Given the description of an element on the screen output the (x, y) to click on. 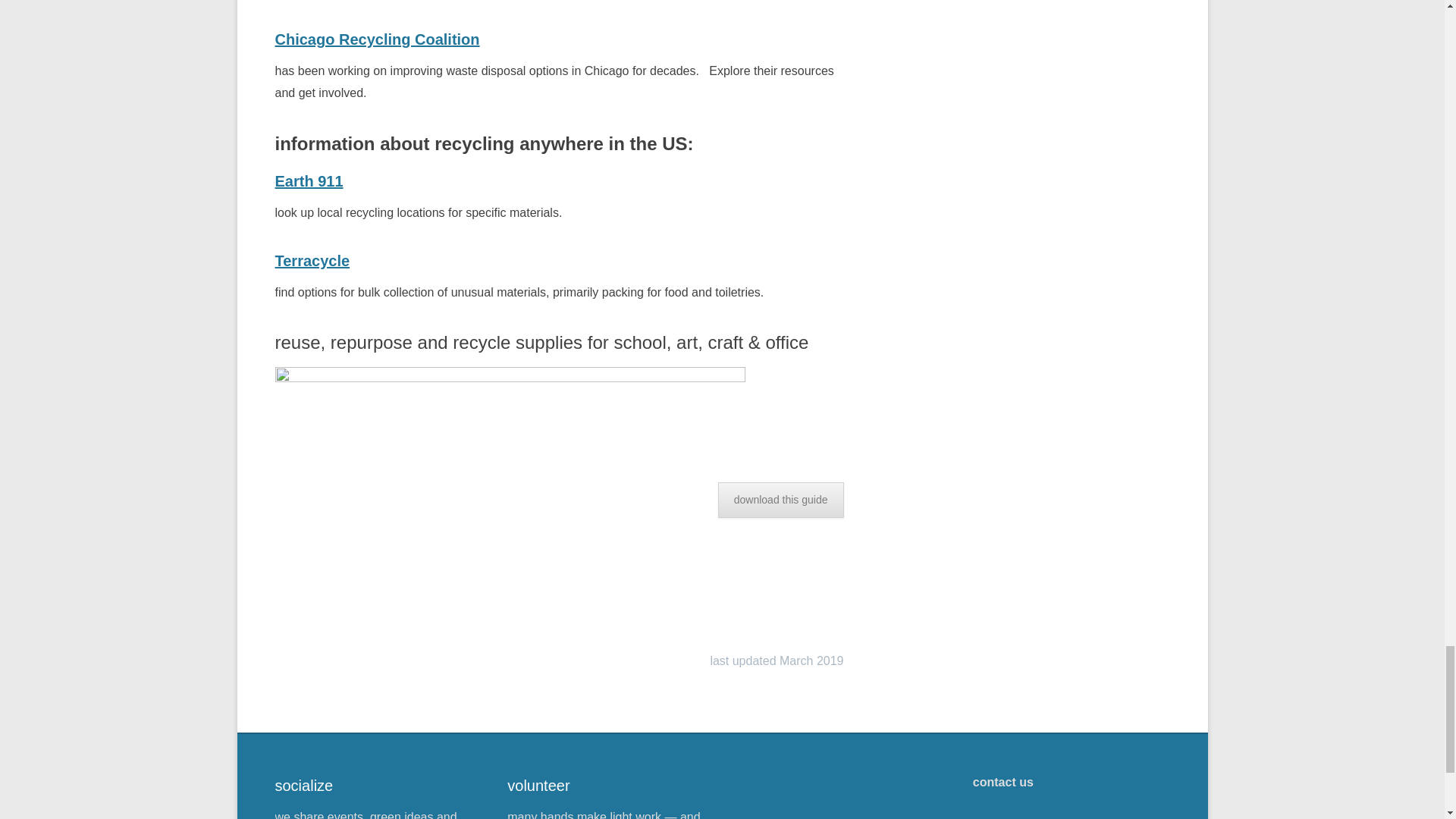
Terracycle (312, 260)
Earth 911 (308, 180)
Chicago Recycling Coalition (377, 39)
download this guide (780, 499)
